Given the description of an element on the screen output the (x, y) to click on. 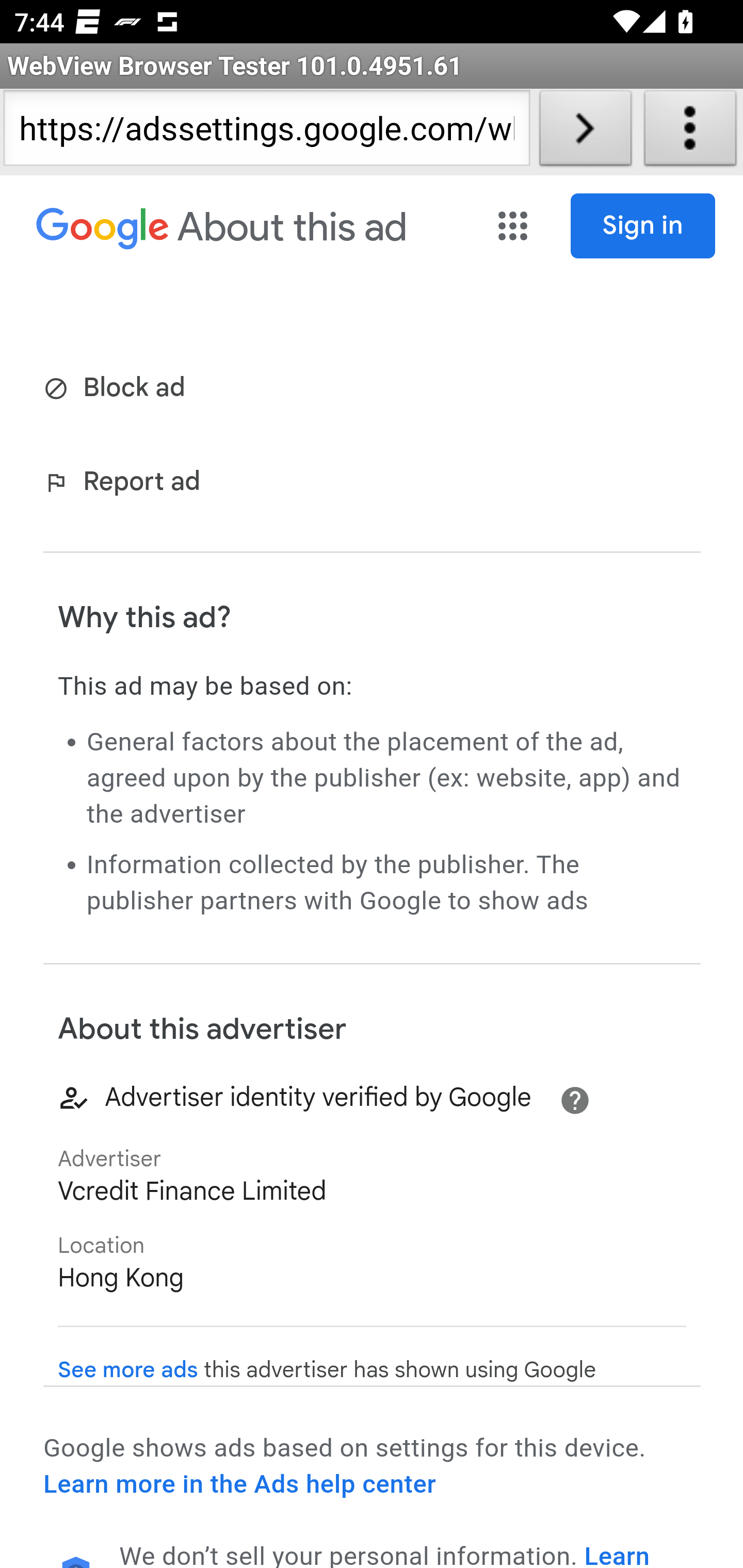
https://adssettings.google.com/whythisad (266, 132)
Load URL (585, 132)
About WebView (690, 132)
Google apps (514, 226)
Sign in (643, 226)
Block ad (117, 388)
Report ad (opens in new tab) Report ad (126, 483)
See more ads (opens in new tab) See more ads (127, 1370)
Learn more in the Ads help center (239, 1483)
Learn how ad personalization works (384, 1553)
